Given the description of an element on the screen output the (x, y) to click on. 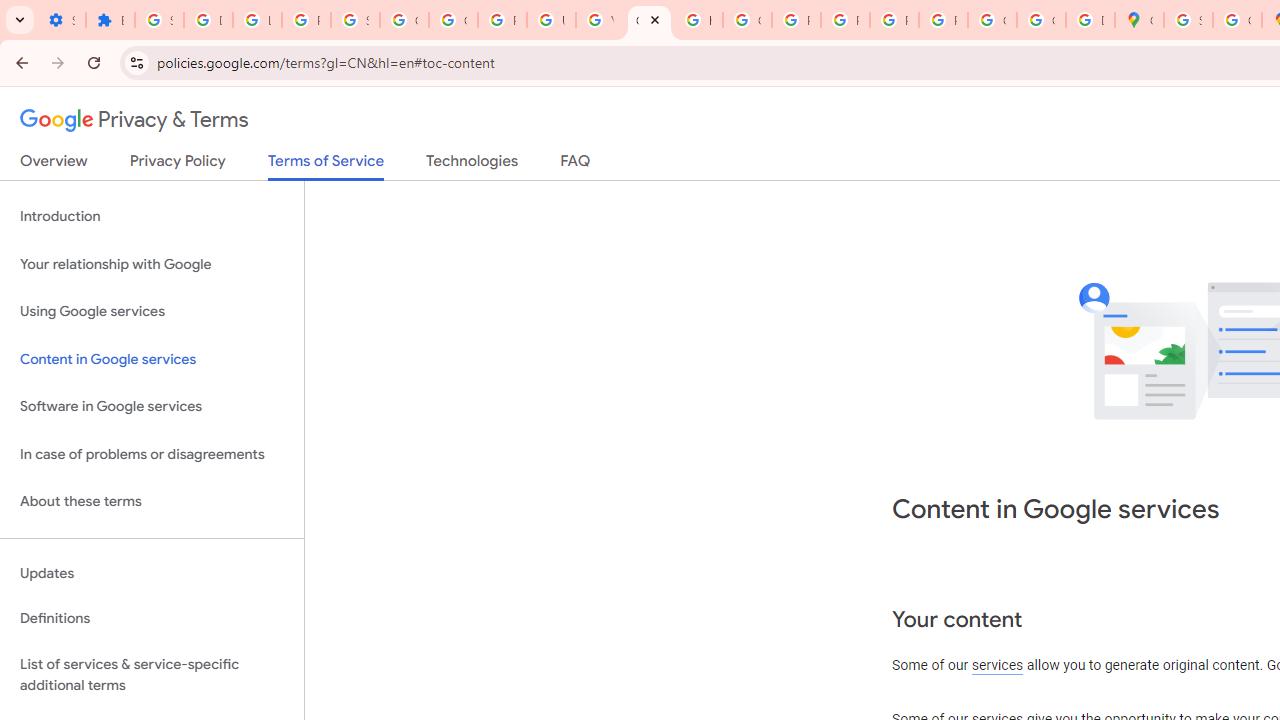
List of services & service-specific additional terms (152, 674)
YouTube (600, 20)
Sign in - Google Accounts (355, 20)
Create your Google Account (1237, 20)
In case of problems or disagreements (152, 453)
Content in Google services (152, 358)
Privacy Help Center - Policies Help (795, 20)
Settings - On startup (61, 20)
Sign in - Google Accounts (159, 20)
